Given the description of an element on the screen output the (x, y) to click on. 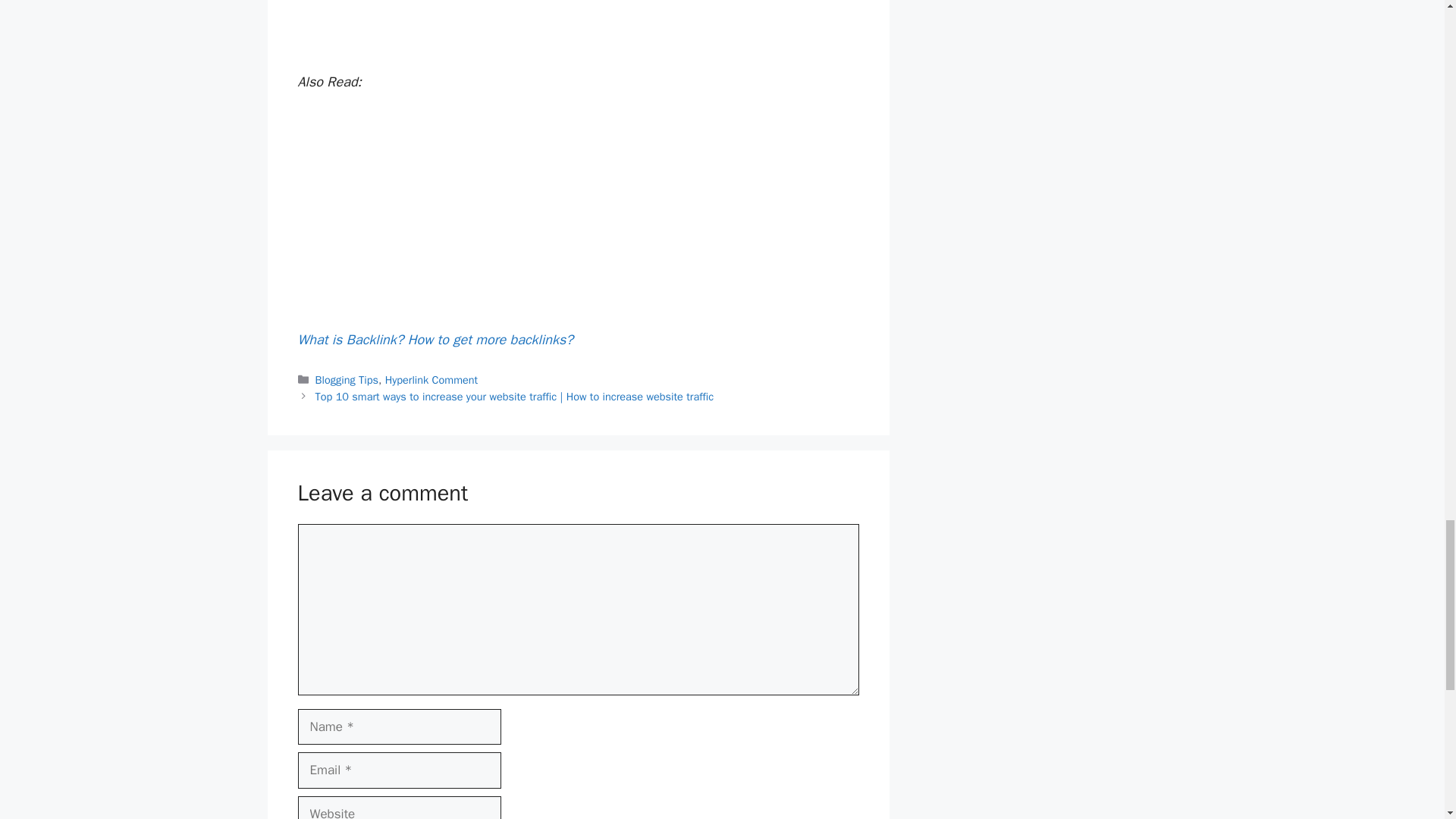
Advertisement (578, 217)
Blogging Tips (346, 379)
Hyperlink Comment (432, 379)
Advertisement (578, 33)
What is Backlink? How to get more backlinks? (434, 340)
